Given the description of an element on the screen output the (x, y) to click on. 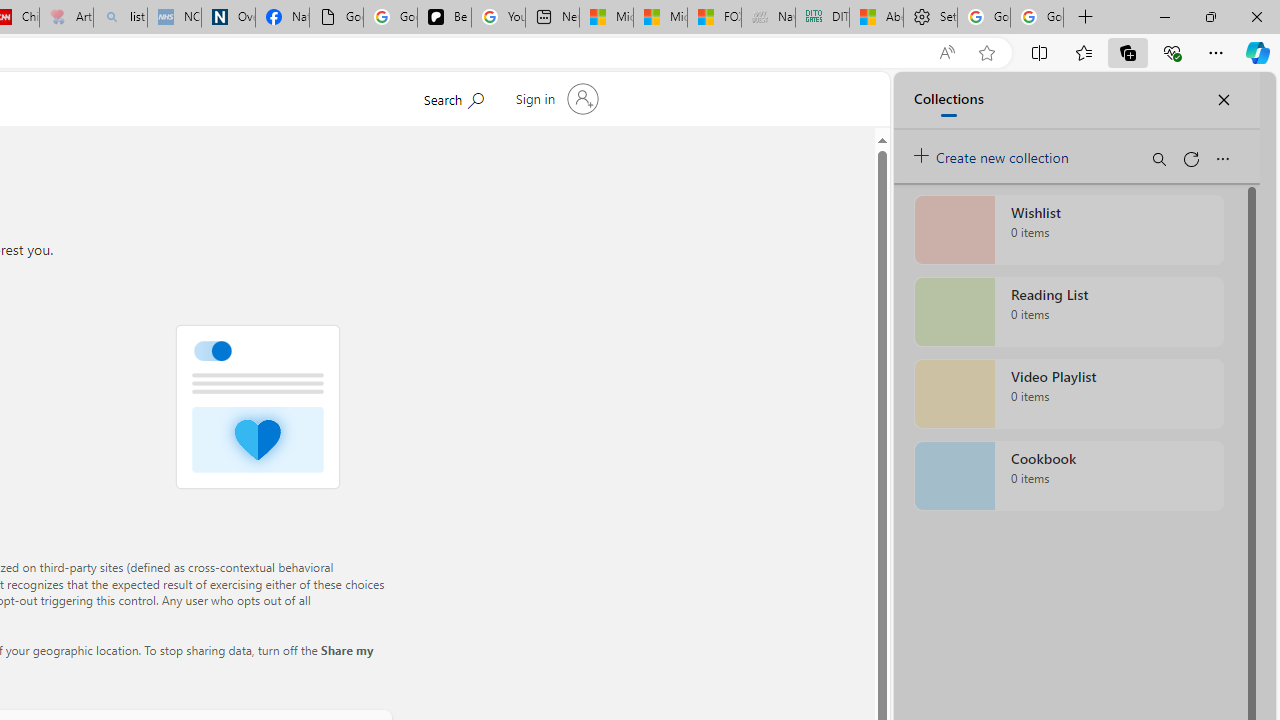
list of asthma inhalers uk - Search - Sleeping (120, 17)
